Given the description of an element on the screen output the (x, y) to click on. 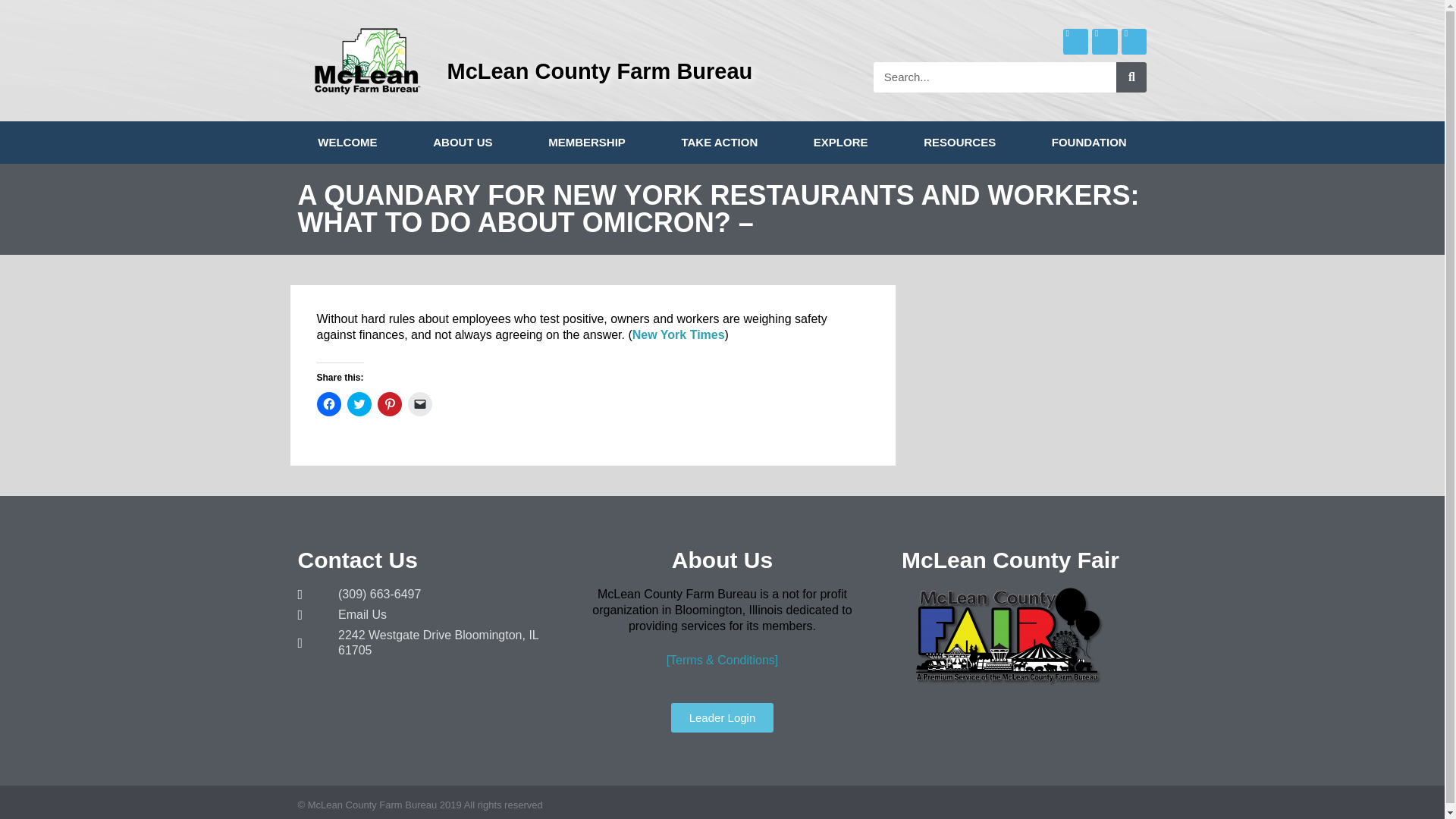
ABOUT US (461, 142)
Click to share on Pinterest (389, 404)
Click to email a link to a friend (419, 404)
WELCOME (346, 142)
TAKE ACTION (719, 142)
RESOURCES (959, 142)
MEMBERSHIP (585, 142)
FOUNDATION (1088, 142)
Click to share on Twitter (359, 404)
Click to share on Facebook (328, 404)
EXPLORE (840, 142)
McLean County Farm Bureau (599, 70)
